Given the description of an element on the screen output the (x, y) to click on. 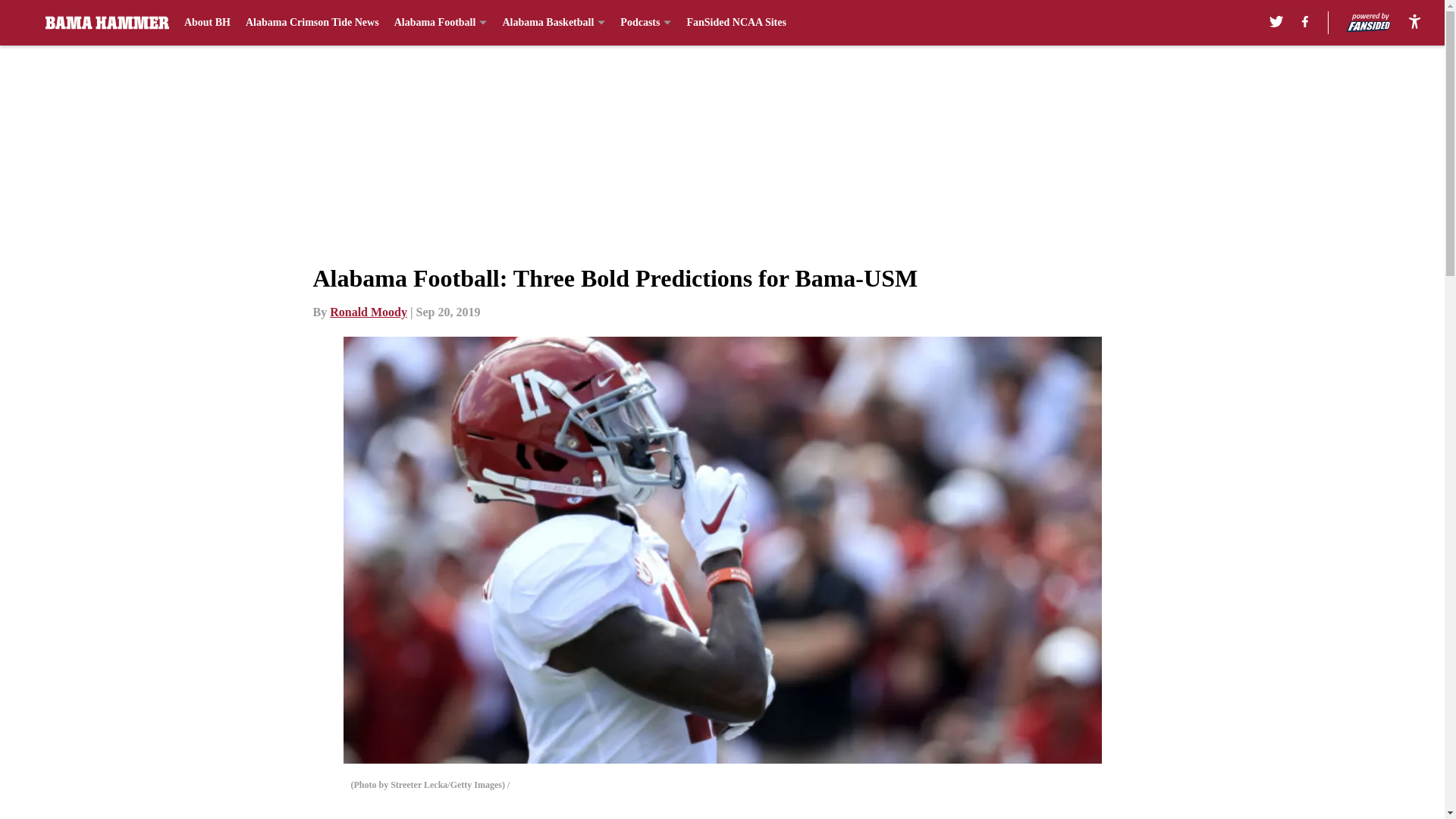
Ronald Moody (368, 311)
FanSided NCAA Sites (735, 22)
About BH (207, 22)
Alabama Crimson Tide News (312, 22)
